Given the description of an element on the screen output the (x, y) to click on. 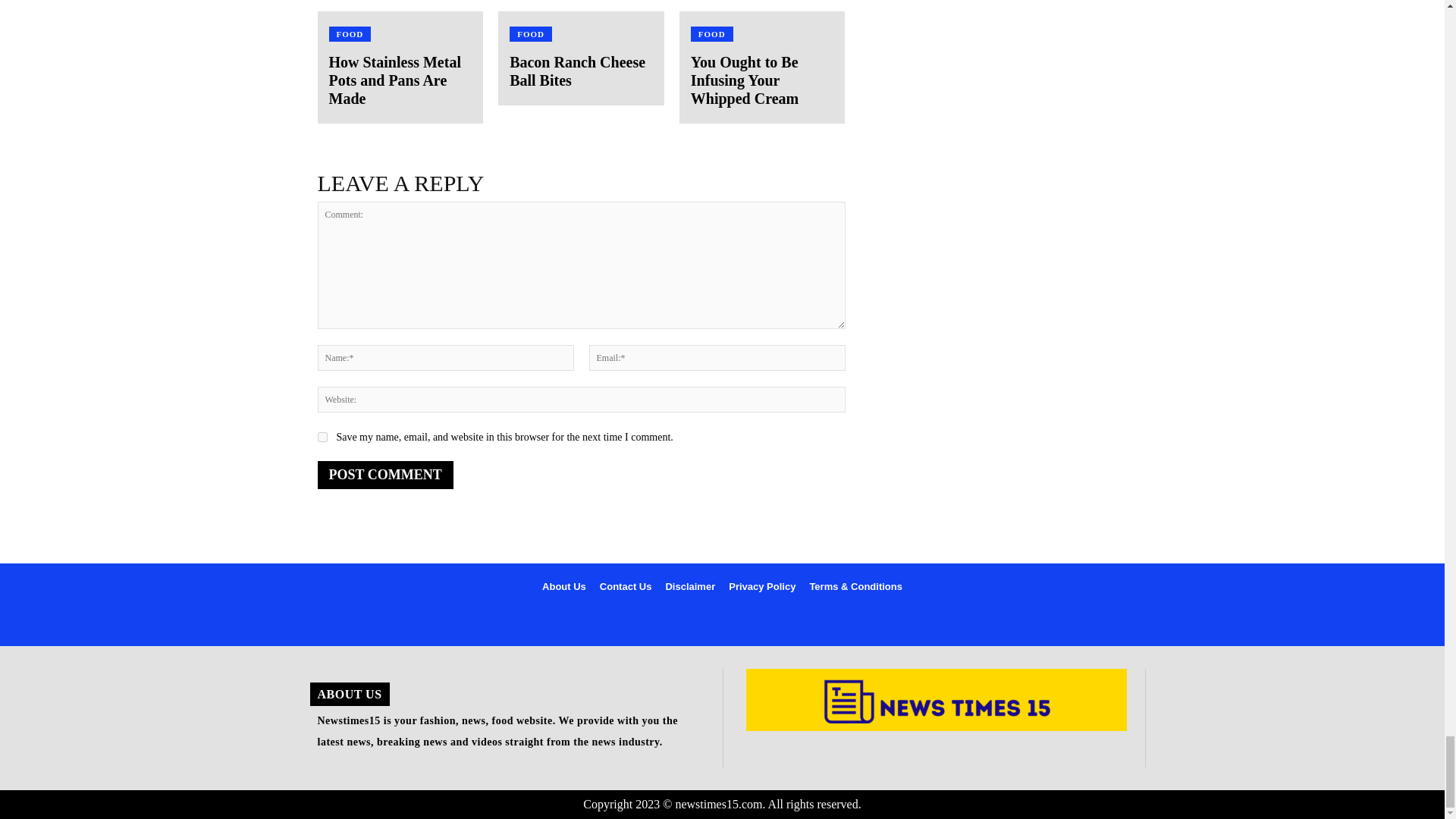
yes (321, 437)
How Stainless Metal Pots and Pans Are Made (395, 80)
How Stainless Metal Pots and Pans Are Made (400, 5)
Post Comment (384, 474)
Bacon Ranch Cheese Ball Bites (580, 5)
